Given the description of an element on the screen output the (x, y) to click on. 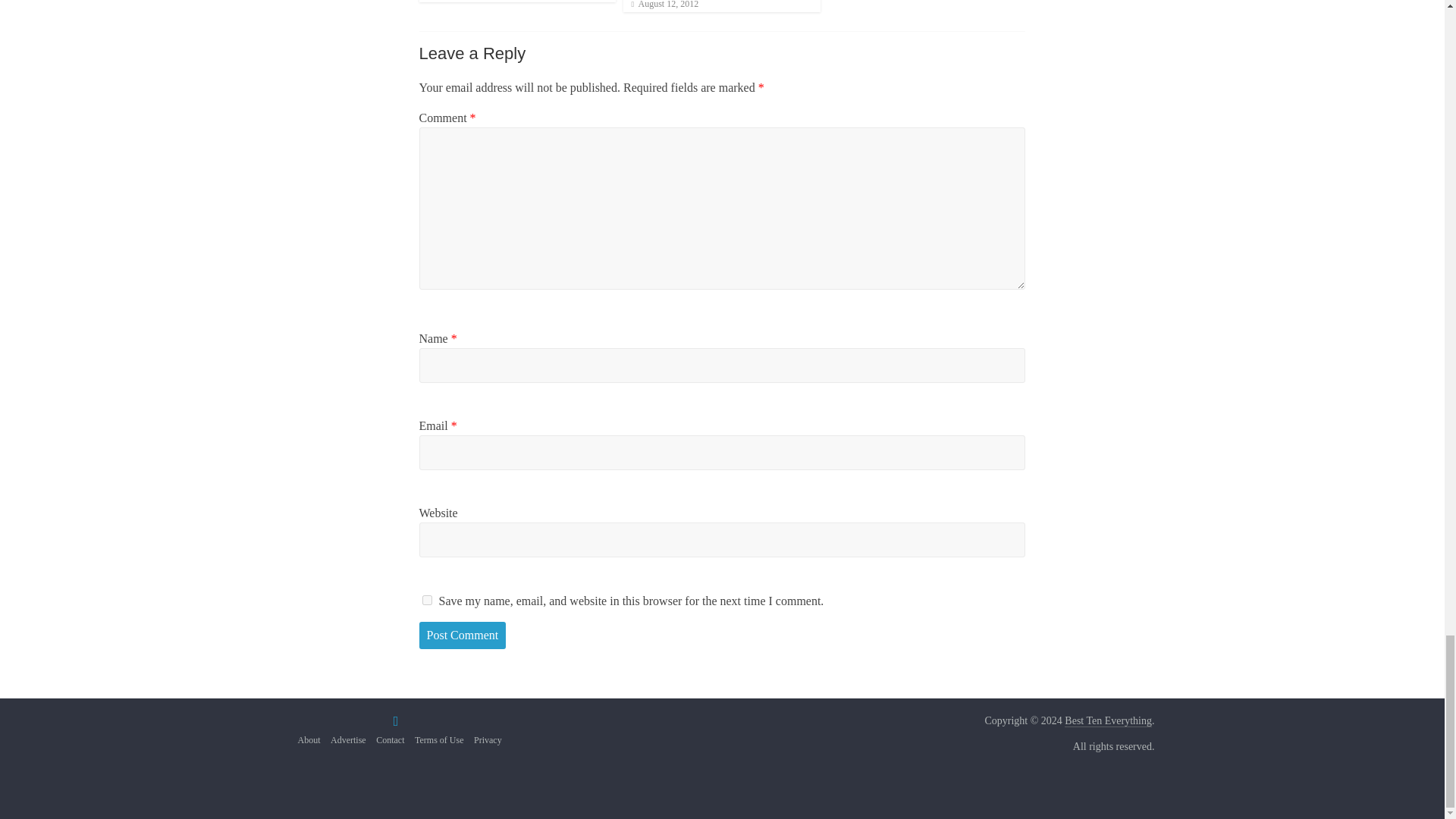
4:30 am (664, 4)
Contact (389, 739)
Best Ten Everything (1107, 720)
Post Comment (462, 635)
Best Ten Everything (1107, 720)
Post Comment (462, 635)
About (308, 739)
Advertise (348, 739)
yes (426, 600)
August 12, 2012 (664, 4)
Terms of Use (438, 739)
Privacy (488, 739)
